Given the description of an element on the screen output the (x, y) to click on. 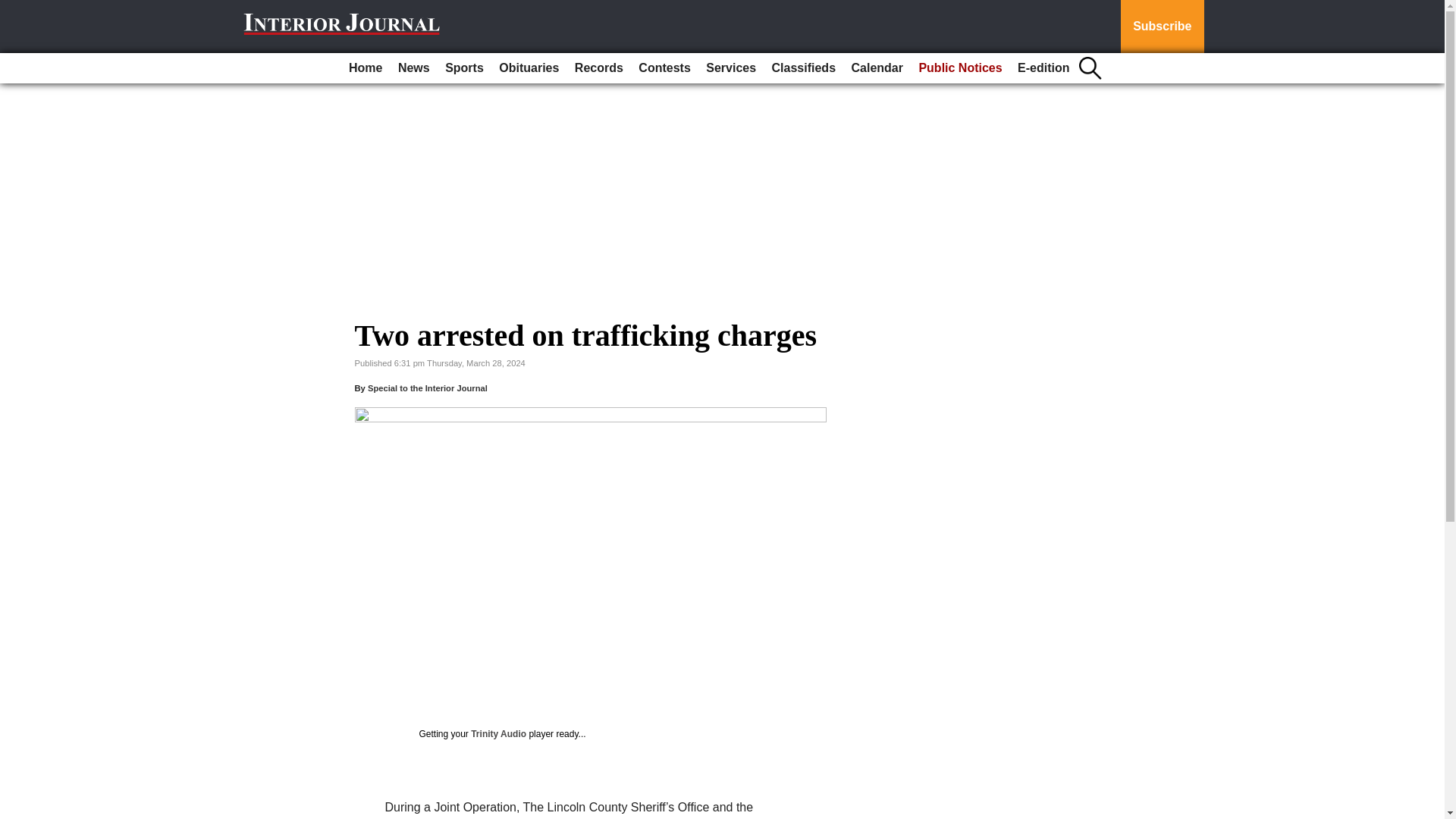
Subscribe (1162, 26)
Trinity Audio (497, 733)
Records (598, 68)
Calendar (876, 68)
Go (13, 9)
Classifieds (803, 68)
Public Notices (959, 68)
Services (730, 68)
Home (365, 68)
News (413, 68)
